Given the description of an element on the screen output the (x, y) to click on. 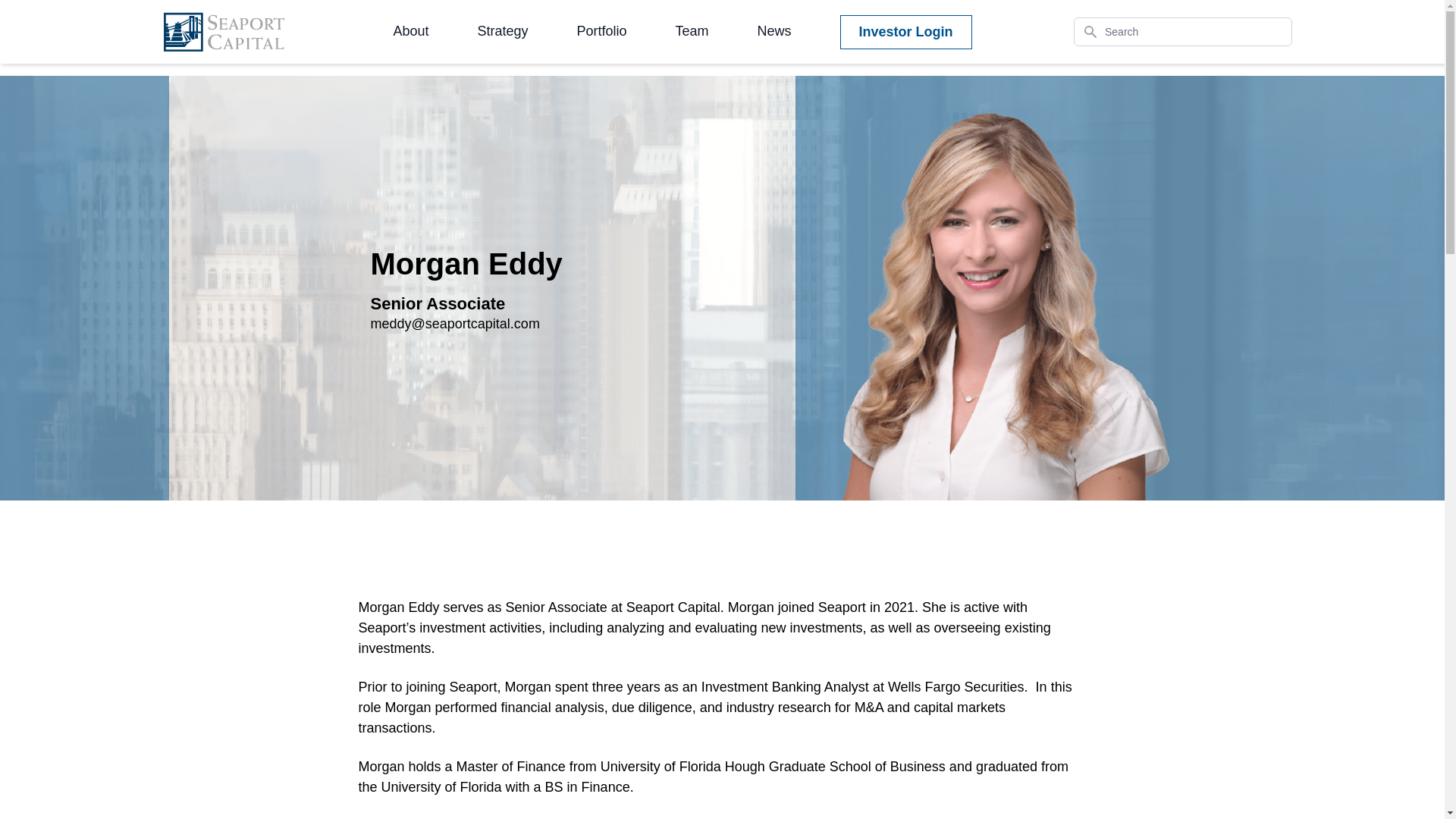
Team (692, 31)
News (774, 31)
About (410, 31)
Strategy (502, 31)
Investor Login (906, 32)
Portfolio (601, 31)
